Given the description of an element on the screen output the (x, y) to click on. 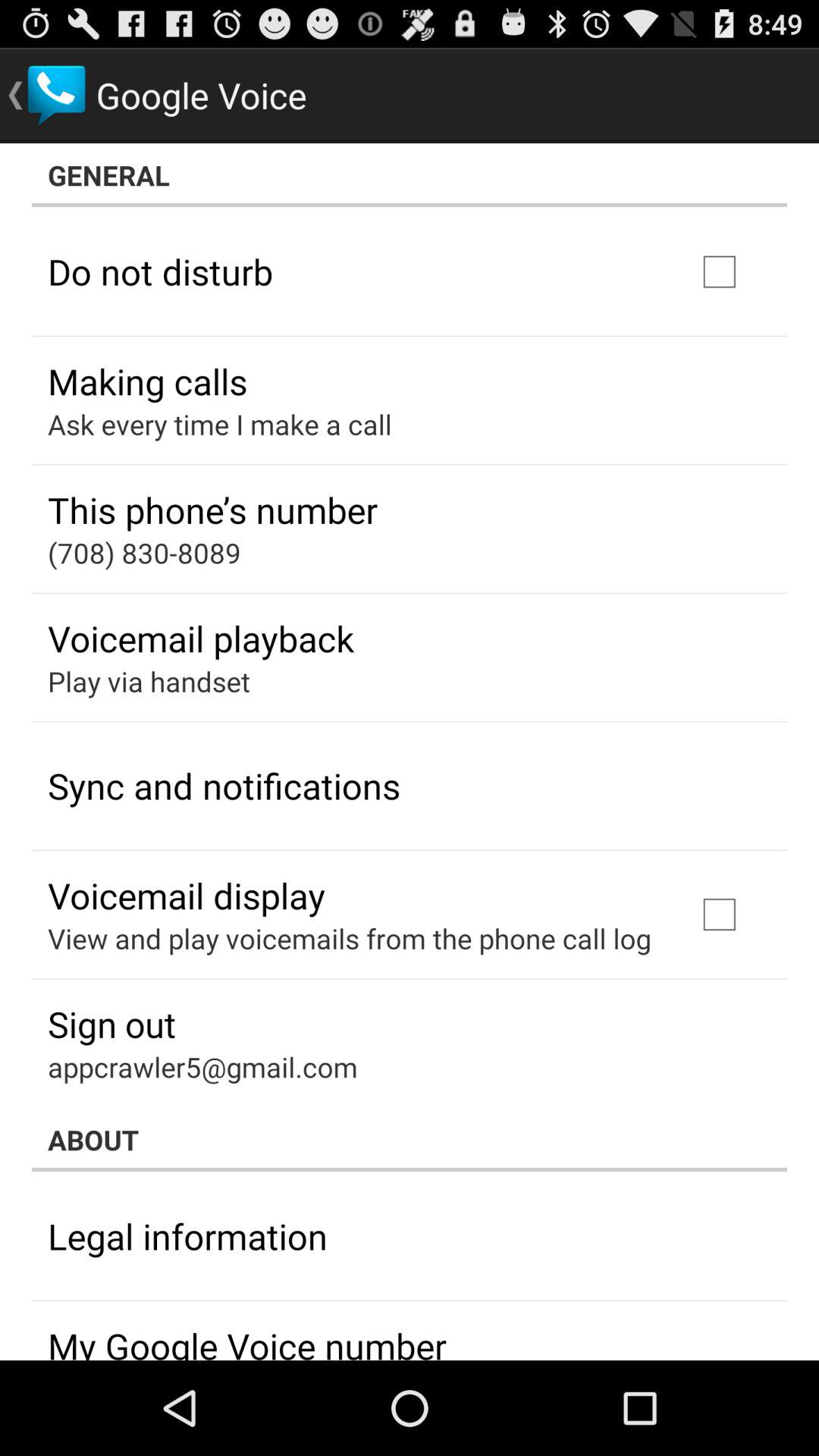
flip until play via handset app (148, 681)
